Given the description of an element on the screen output the (x, y) to click on. 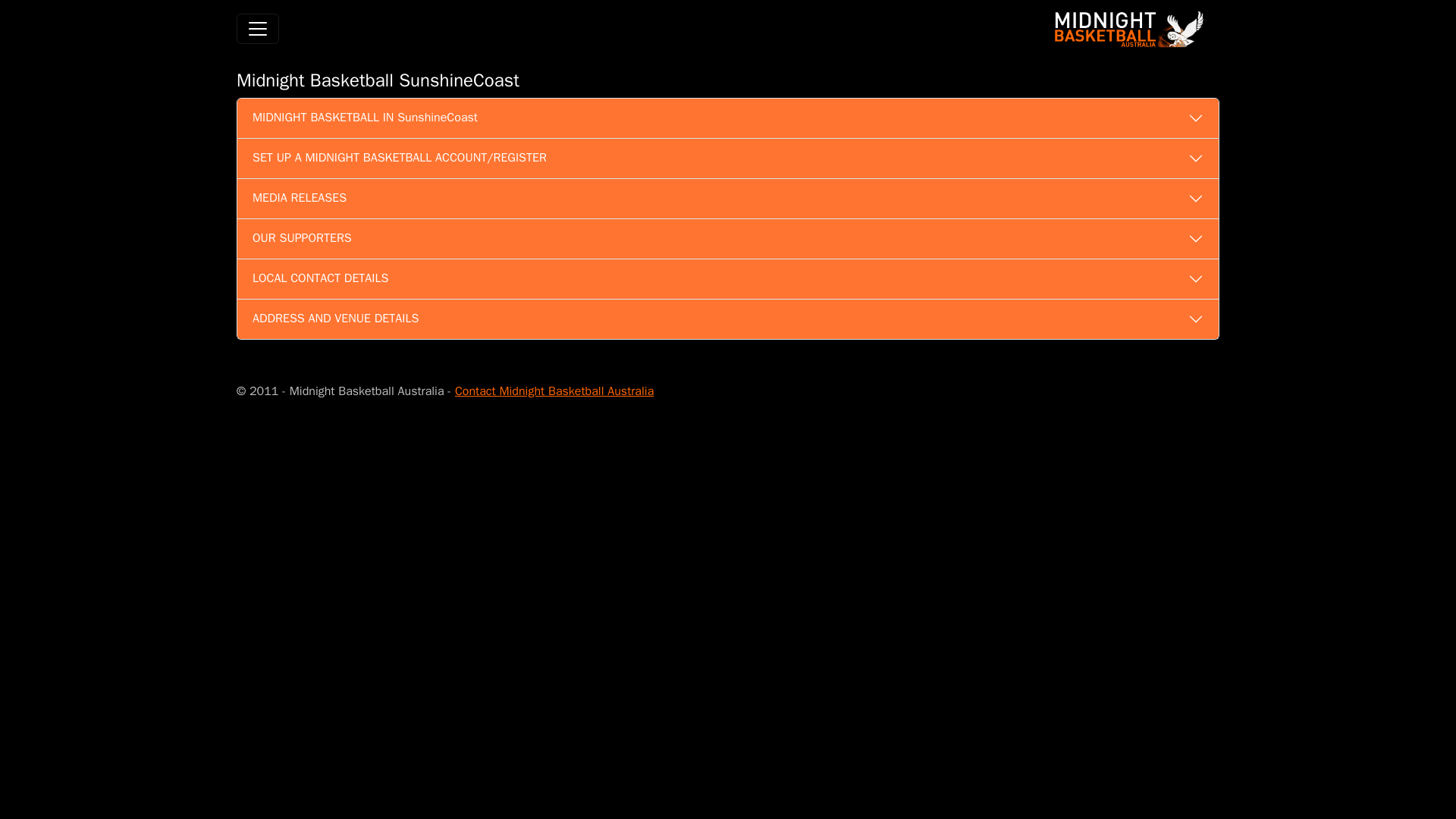
OUR SUPPORTERS (727, 238)
ADDRESS AND VENUE DETAILS (727, 319)
MIDNIGHT BASKETBALL IN SunshineCoast (727, 118)
Contact Midnight Basketball Australia (553, 391)
LOCAL CONTACT DETAILS (727, 278)
MEDIA RELEASES (727, 198)
